Given the description of an element on the screen output the (x, y) to click on. 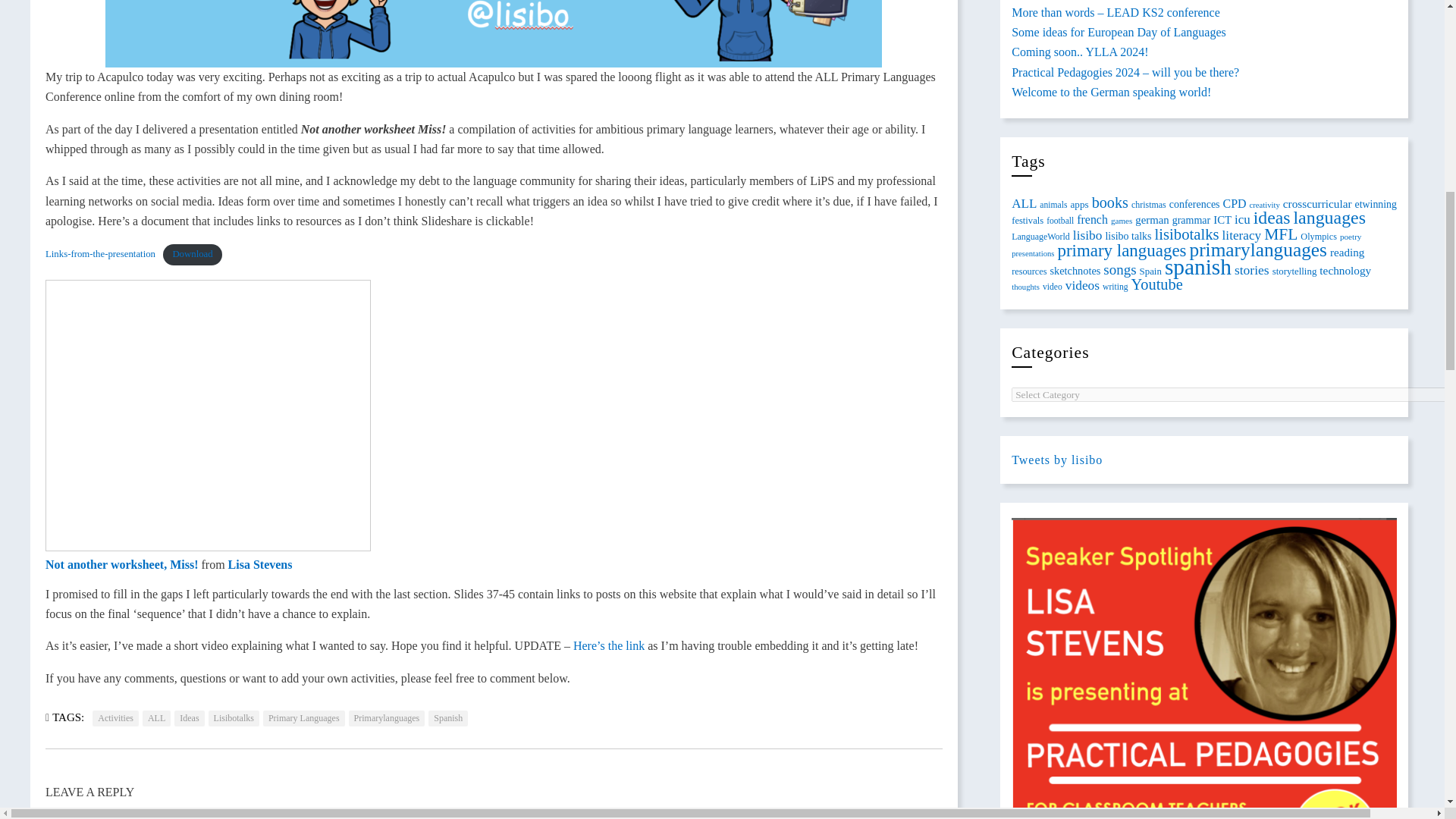
Spanish (447, 717)
Not another worksheet, Miss! (121, 563)
Ideas (188, 717)
Some ideas for European Day of Languages (1118, 31)
Download (192, 254)
Primarylanguages (387, 717)
Activities (115, 717)
Not another worksheet, Miss! (121, 563)
Links-from-the-presentation (100, 253)
Not another worksheet, Miss! (208, 415)
